Given the description of an element on the screen output the (x, y) to click on. 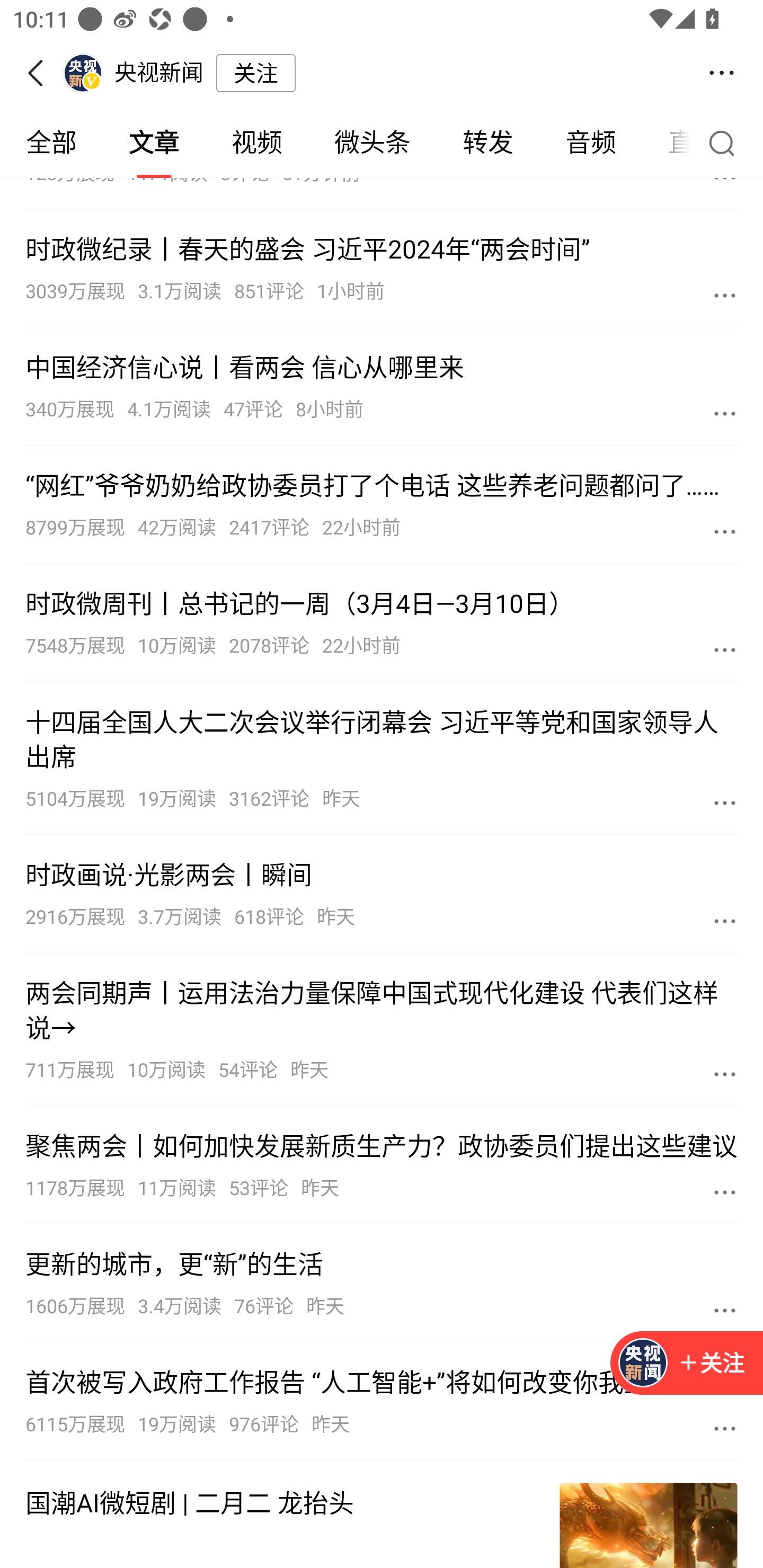
返回 (41, 72)
更多操作 (721, 72)
关注 (255, 72)
全部 (51, 143)
文章 (154, 143)
视频 (256, 143)
微头条 (372, 143)
转发 (487, 143)
音频 (590, 143)
搜索 (726, 142)
更多 (724, 294)
更多 (724, 412)
更多 (724, 531)
更多 (724, 648)
更多 (724, 802)
更多 (724, 919)
更多 (724, 1073)
更多 (724, 1191)
更多 (724, 1309)
    关注 (686, 1363)
    关注 (711, 1363)
更多 (724, 1427)
